Given the description of an element on the screen output the (x, y) to click on. 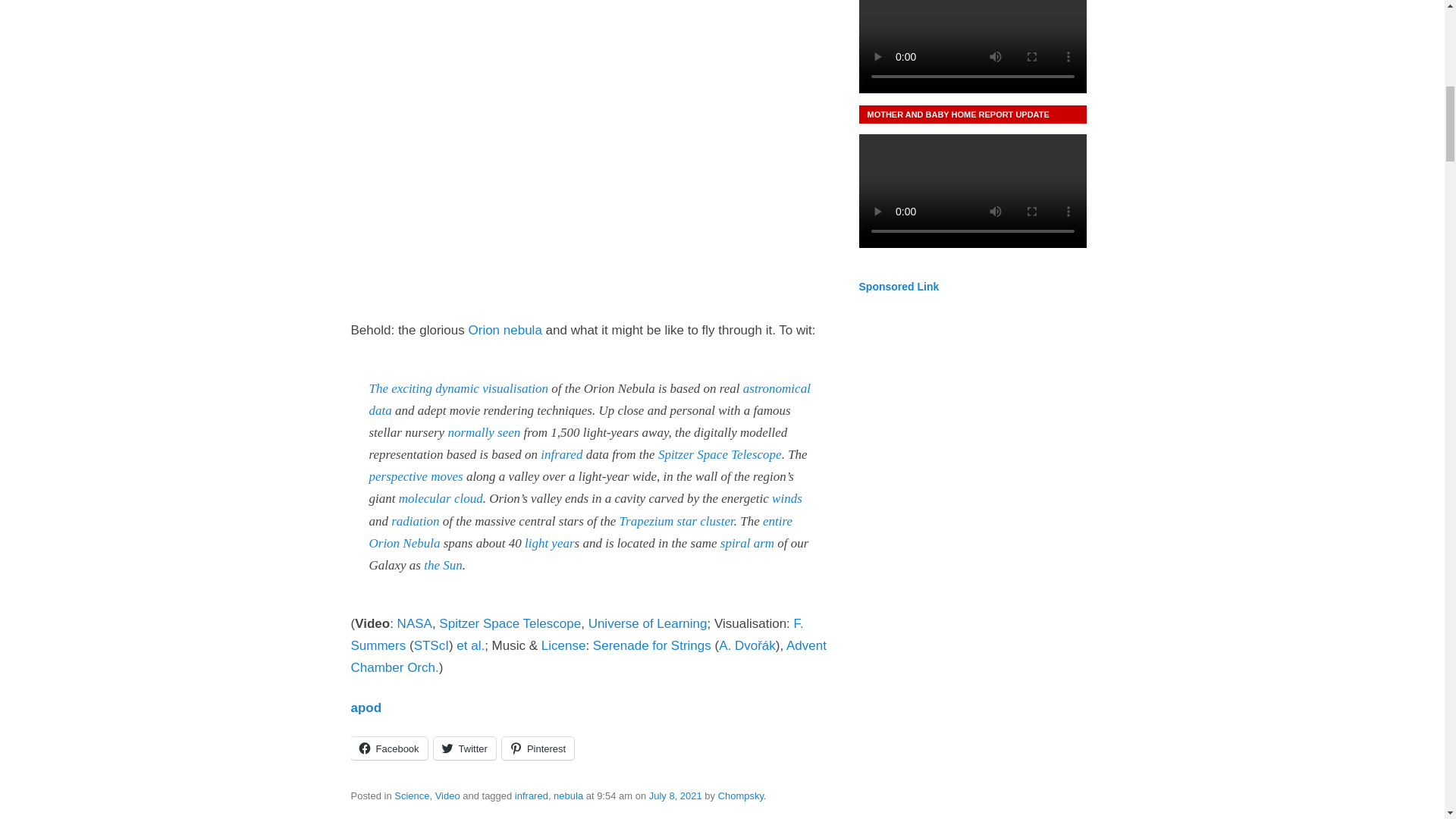
Serenade for Strings (651, 645)
light year (549, 543)
perspective moves (415, 476)
normally seen (482, 432)
Video (447, 795)
Trapezium star cluster (676, 521)
Universe of Learning (647, 623)
Spitzer Space Telescope (509, 623)
License (563, 645)
Twitter (464, 748)
